Given the description of an element on the screen output the (x, y) to click on. 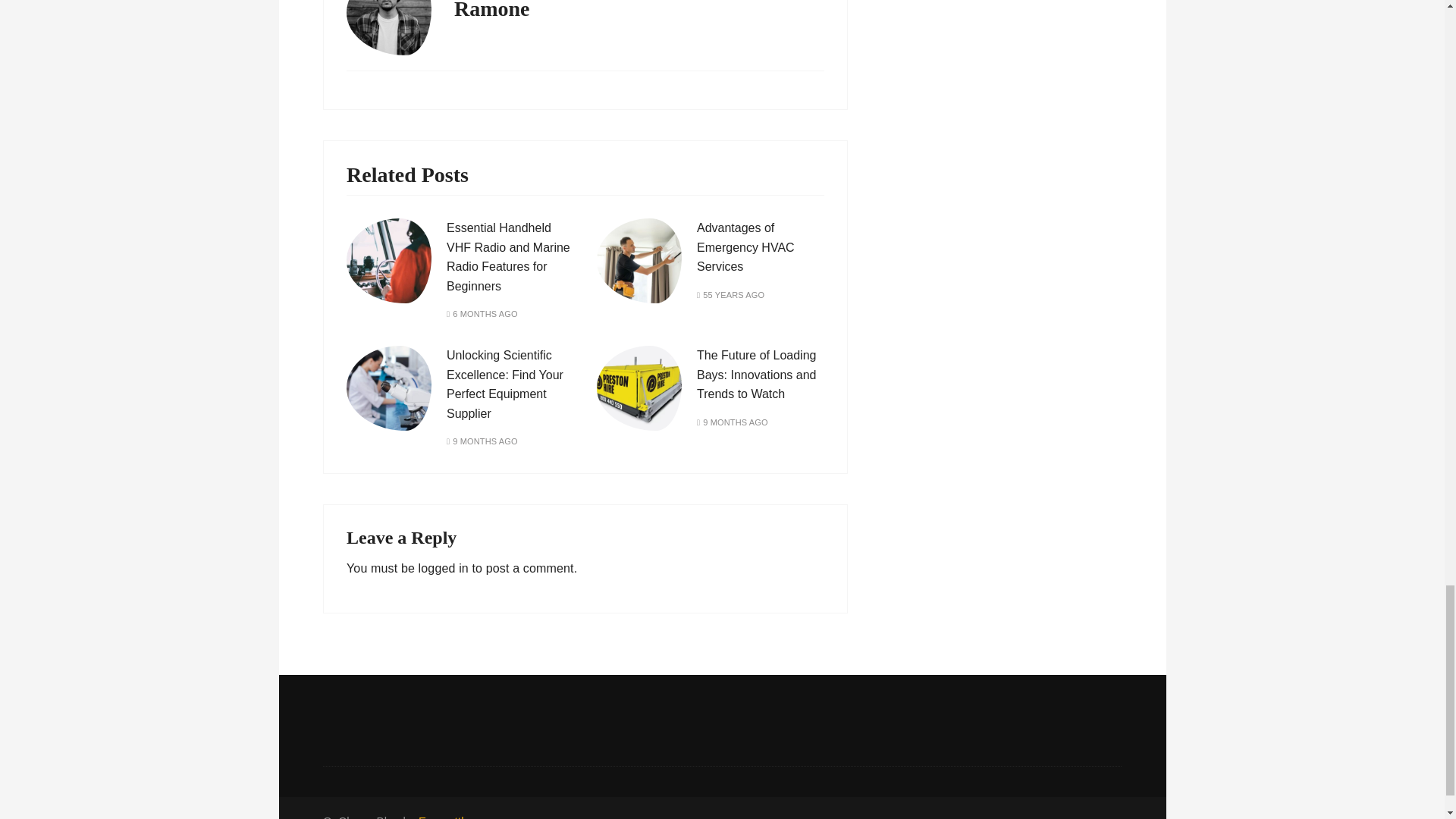
logged in (443, 567)
The Future of Loading Bays: Innovations and Trends to Watch (756, 374)
Advantages of Emergency HVAC Services (745, 246)
